Given the description of an element on the screen output the (x, y) to click on. 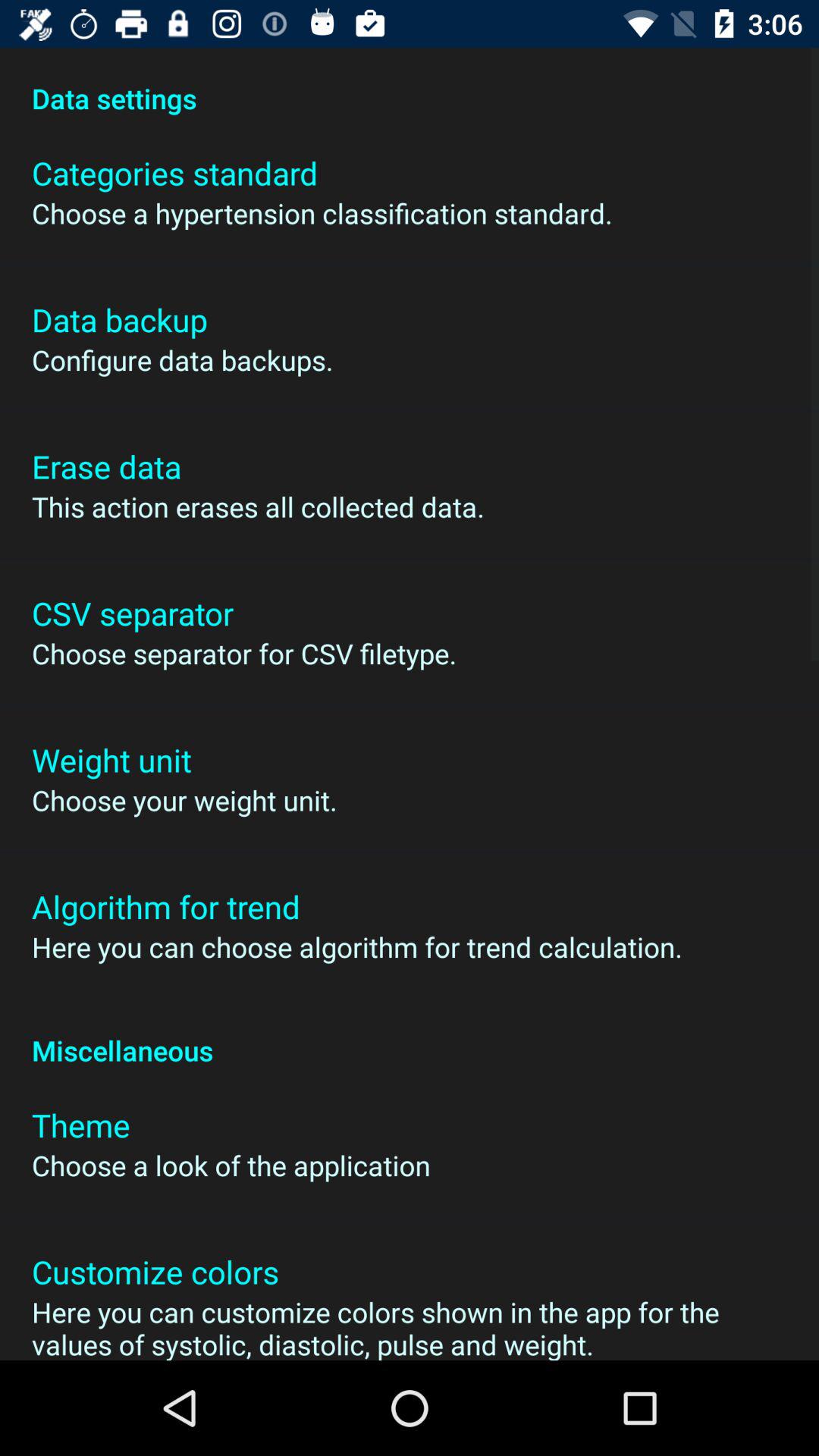
turn off icon below the erase data item (257, 506)
